Given the description of an element on the screen output the (x, y) to click on. 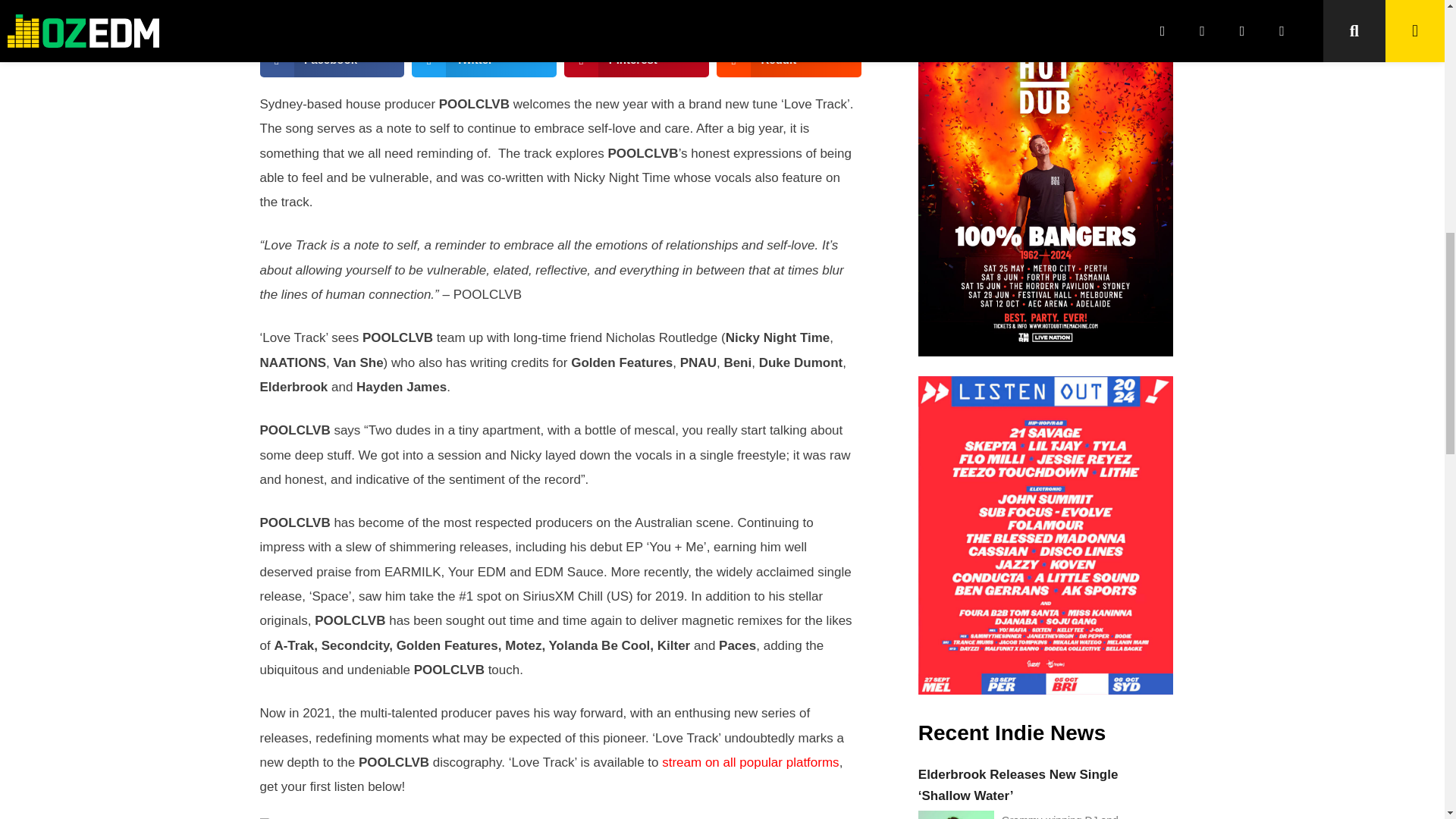
stream on all popular platforms (750, 762)
